Given the description of an element on the screen output the (x, y) to click on. 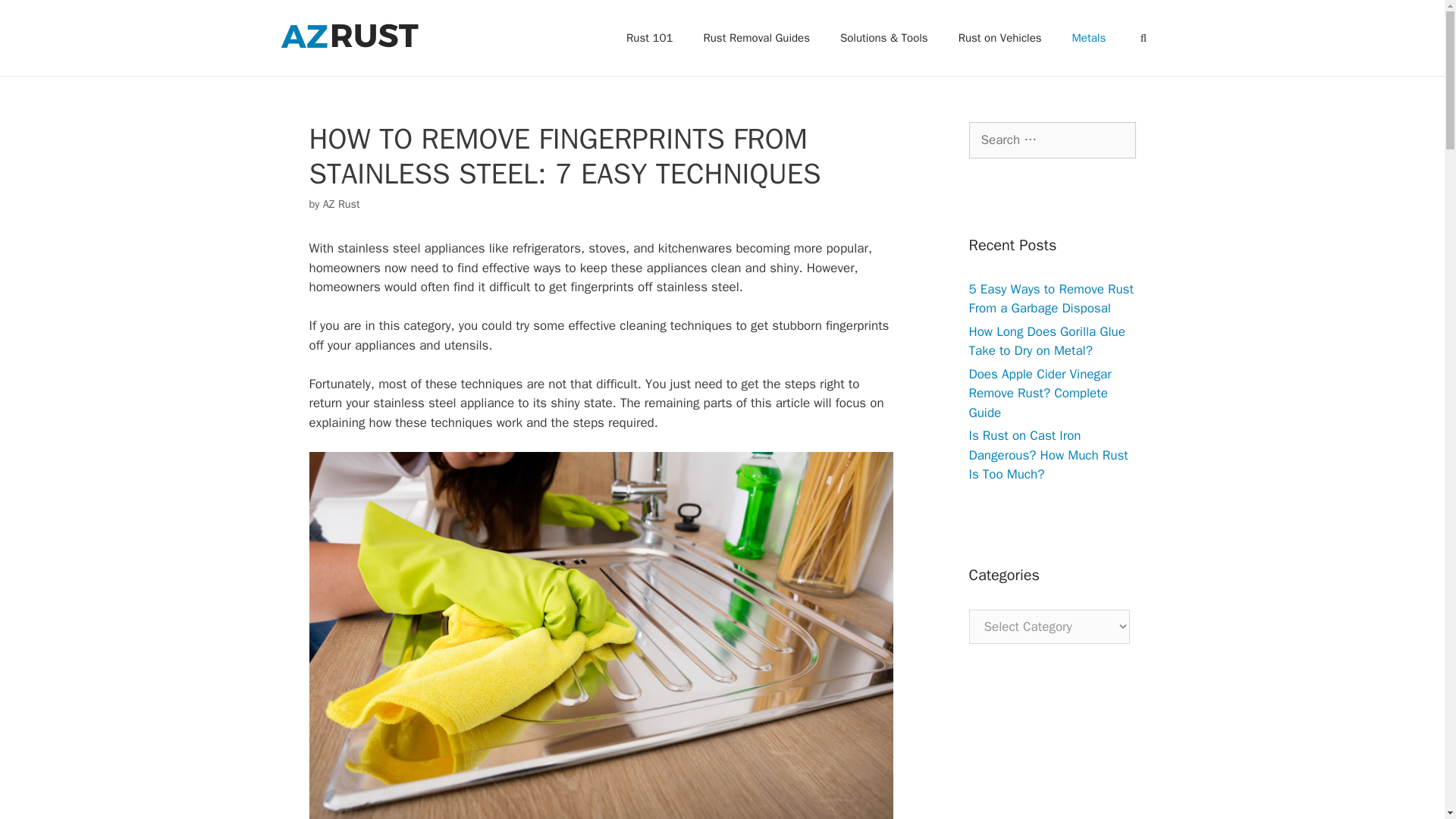
Rust 101 (649, 37)
View all posts by AZ Rust (341, 203)
AZ Rust (341, 203)
Rust on Vehicles (1000, 37)
Rust Removal Guides (756, 37)
Metals (1089, 37)
